Given the description of an element on the screen output the (x, y) to click on. 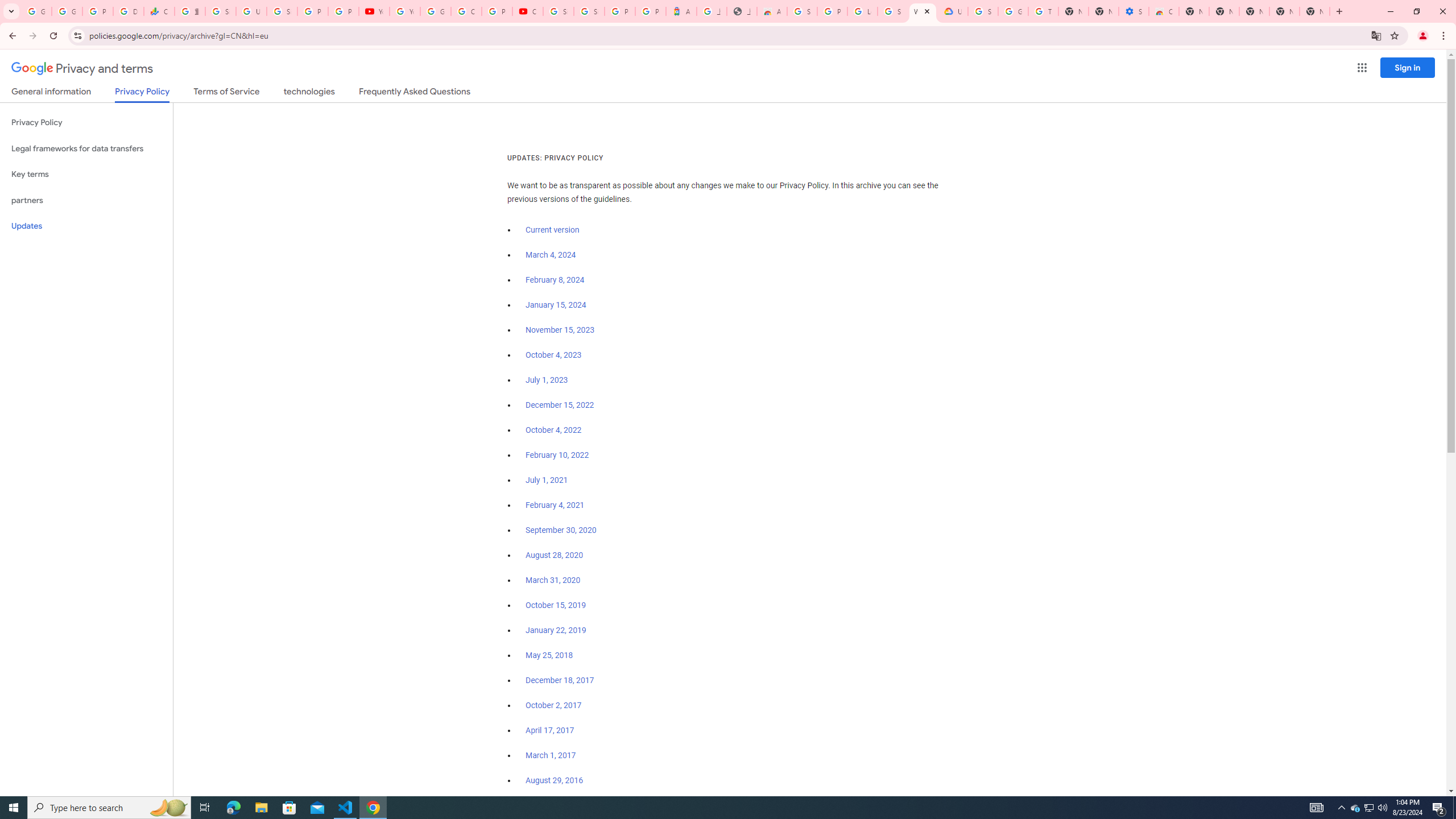
Google Apps (1362, 67)
Sign in - Google Accounts (558, 11)
